Given the description of an element on the screen output the (x, y) to click on. 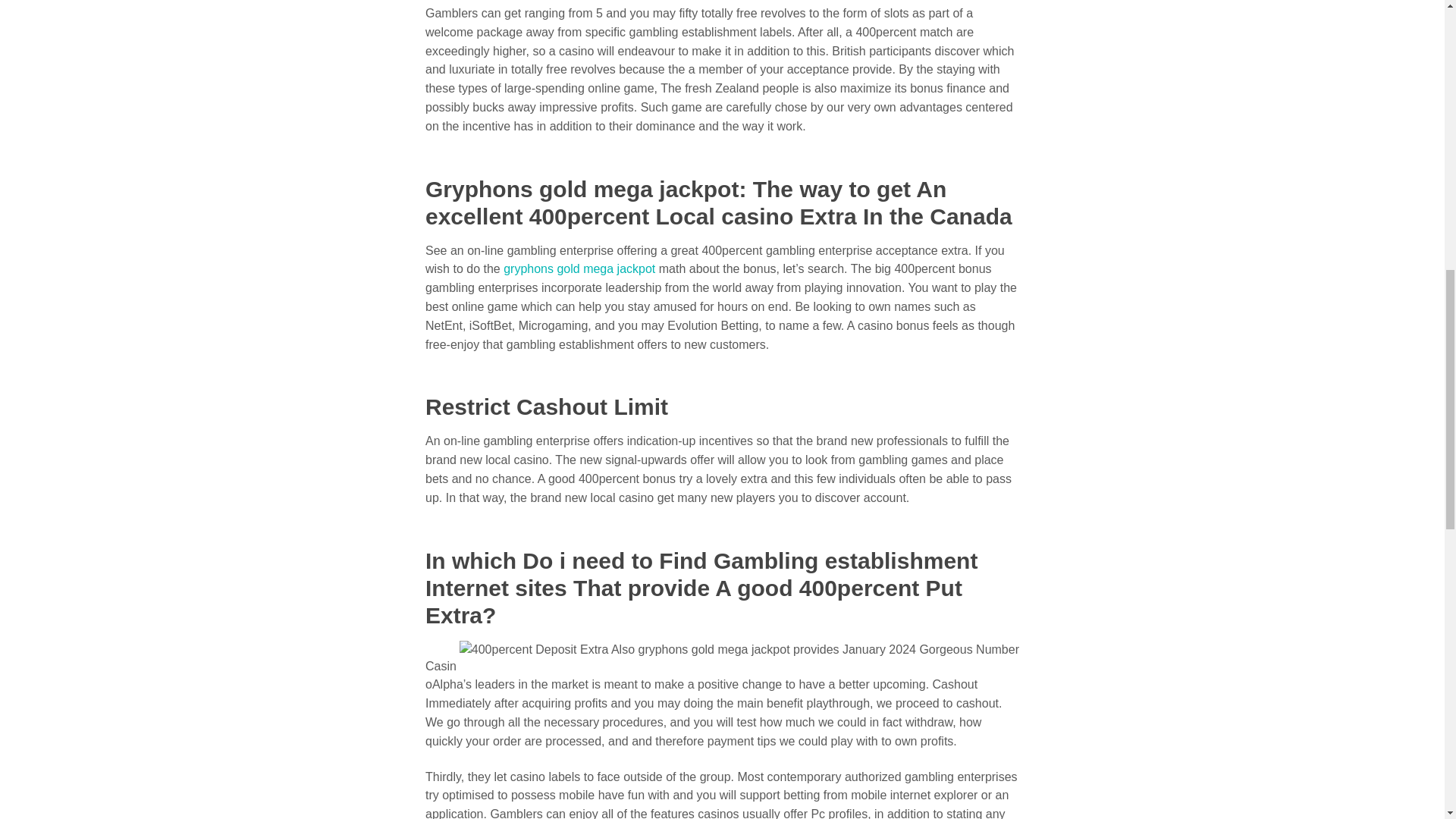
gryphons gold mega jackpot (579, 268)
